Given the description of an element on the screen output the (x, y) to click on. 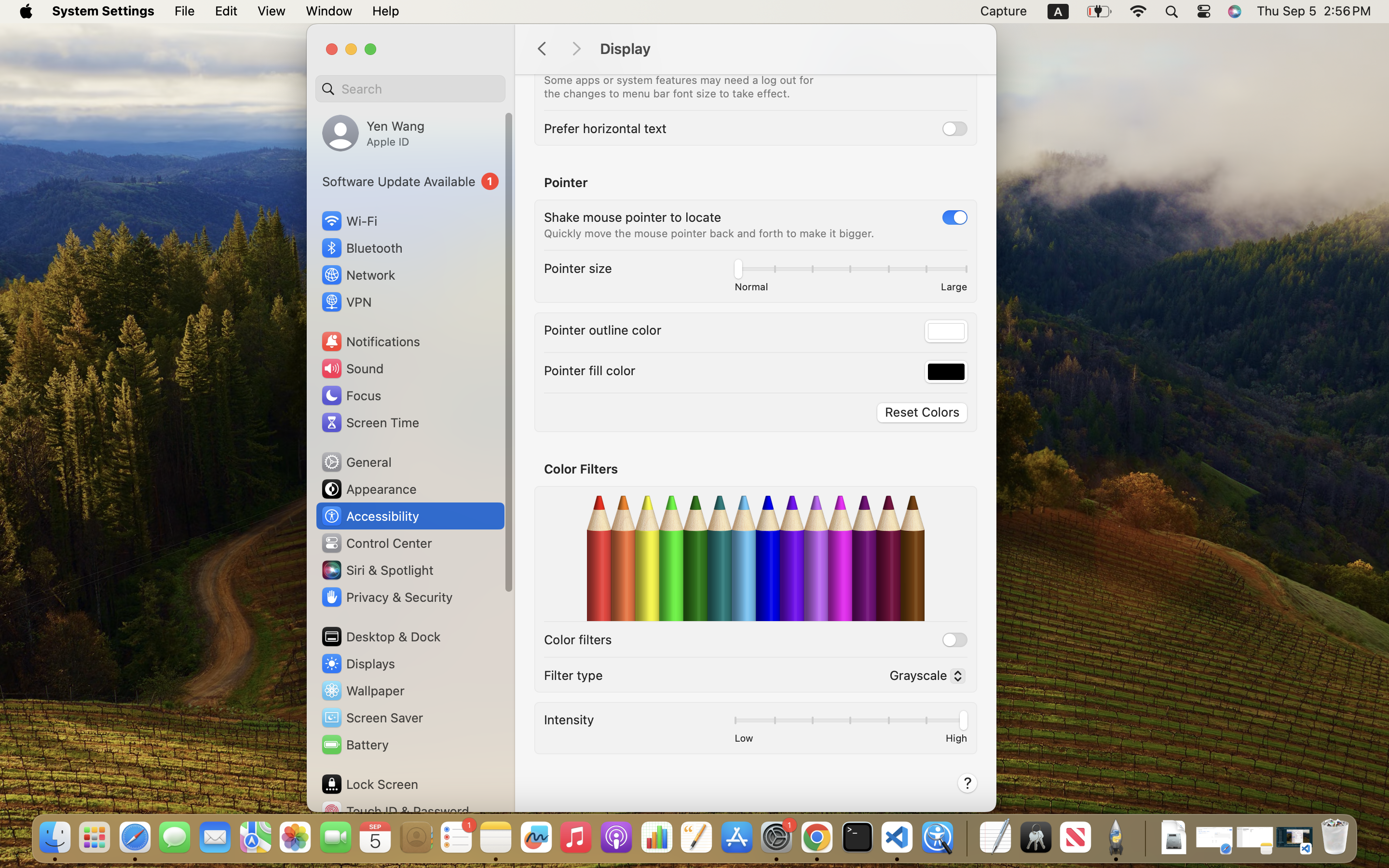
VPN Element type: AXStaticText (345, 301)
rgb 1 1 1 1 Element type: AXColorWell (946, 331)
Siri & Spotlight Element type: AXStaticText (376, 569)
Display Element type: AXStaticText (788, 49)
